Given the description of an element on the screen output the (x, y) to click on. 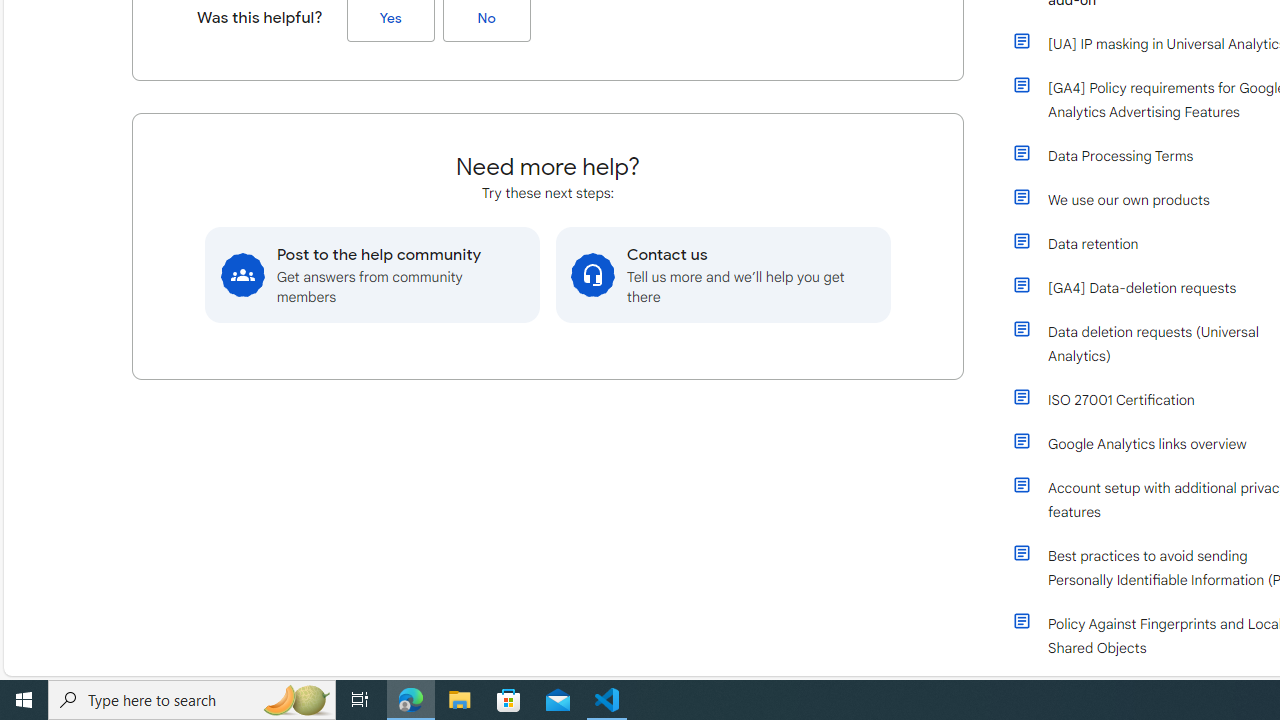
Class: need-more-help-option__svg-background (592, 274)
Class: need-more-help-option__svg (593, 274)
Class: article (1021, 620)
